Given the description of an element on the screen output the (x, y) to click on. 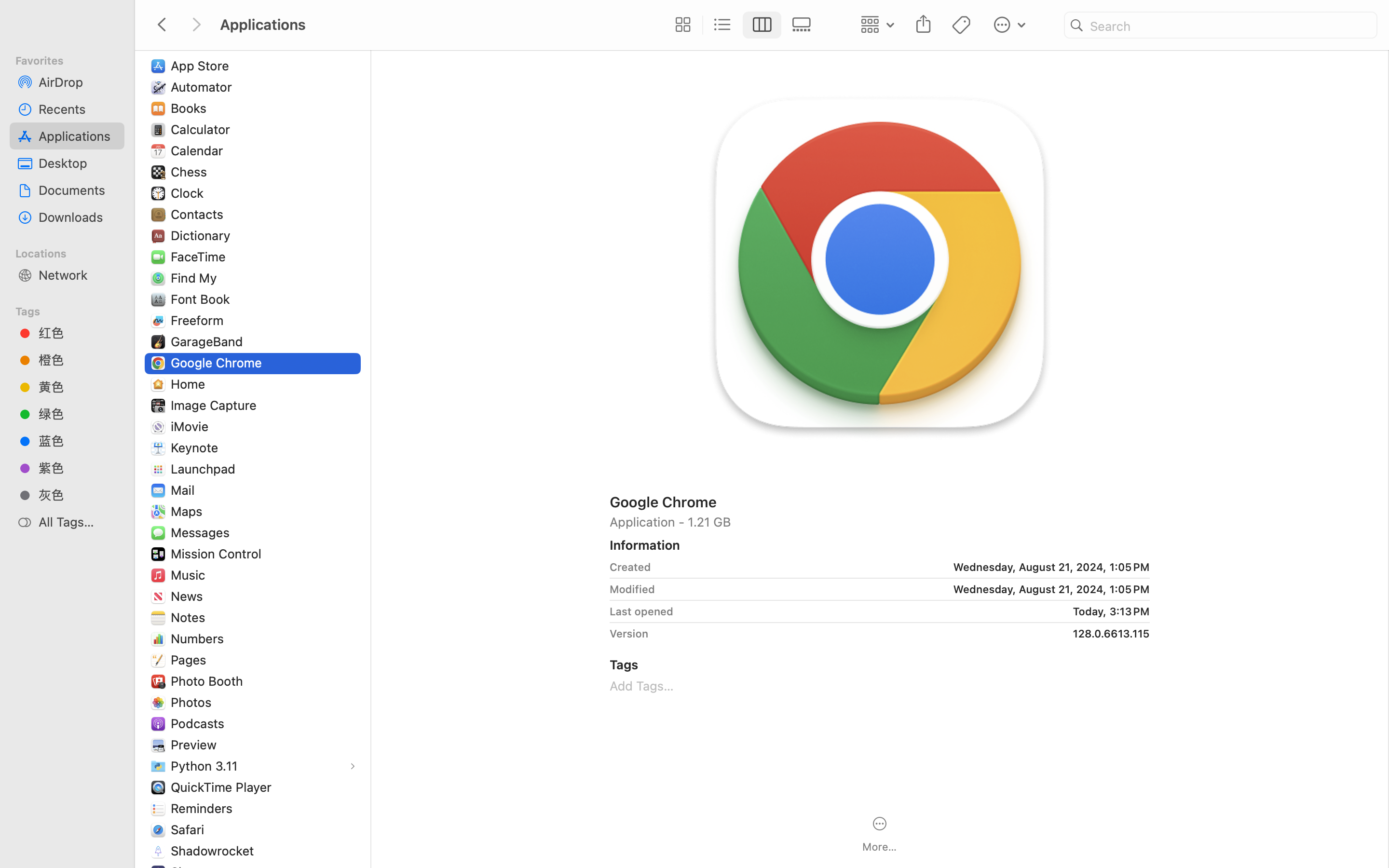
Launchpad Element type: AXTextField (205, 468)
iMovie Element type: AXTextField (191, 426)
FaceTime Element type: AXTextField (200, 256)
128.0.6613.115 Element type: AXStaticText (901, 633)
Applications Element type: AXStaticText (437, 827)
